Given the description of an element on the screen output the (x, y) to click on. 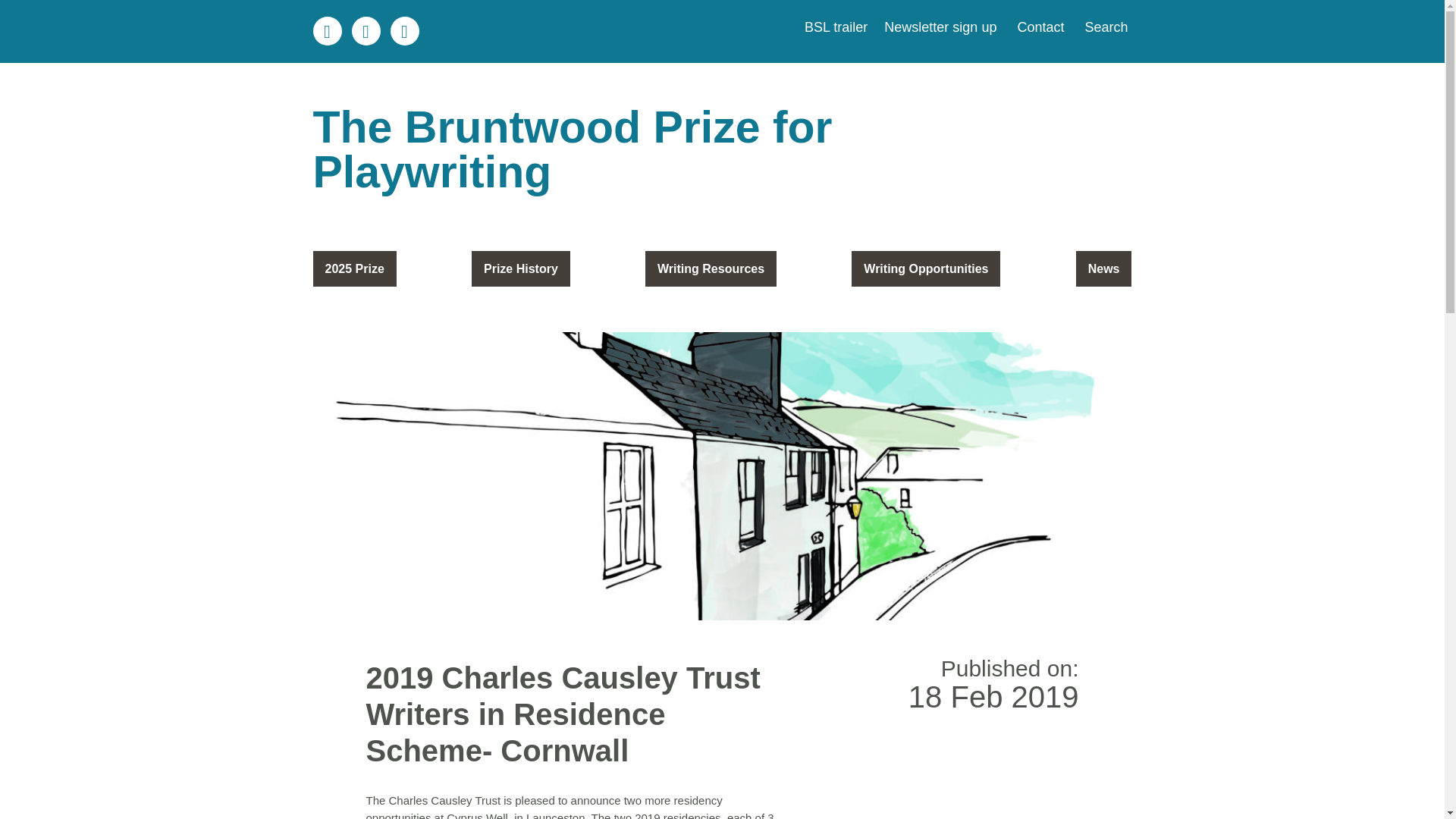
BSL trailer (836, 27)
The Bruntwood Prize for Playwriting (722, 149)
Contact (1038, 27)
2025 Prize (354, 268)
Share on Facebook (404, 30)
Prize History (520, 268)
Share this page (326, 30)
Search (1103, 27)
Newsletter sign up (937, 27)
News (1103, 268)
Writing Resources (710, 268)
Writing Opportunities (925, 268)
Share on Twitter (366, 30)
